Given the description of an element on the screen output the (x, y) to click on. 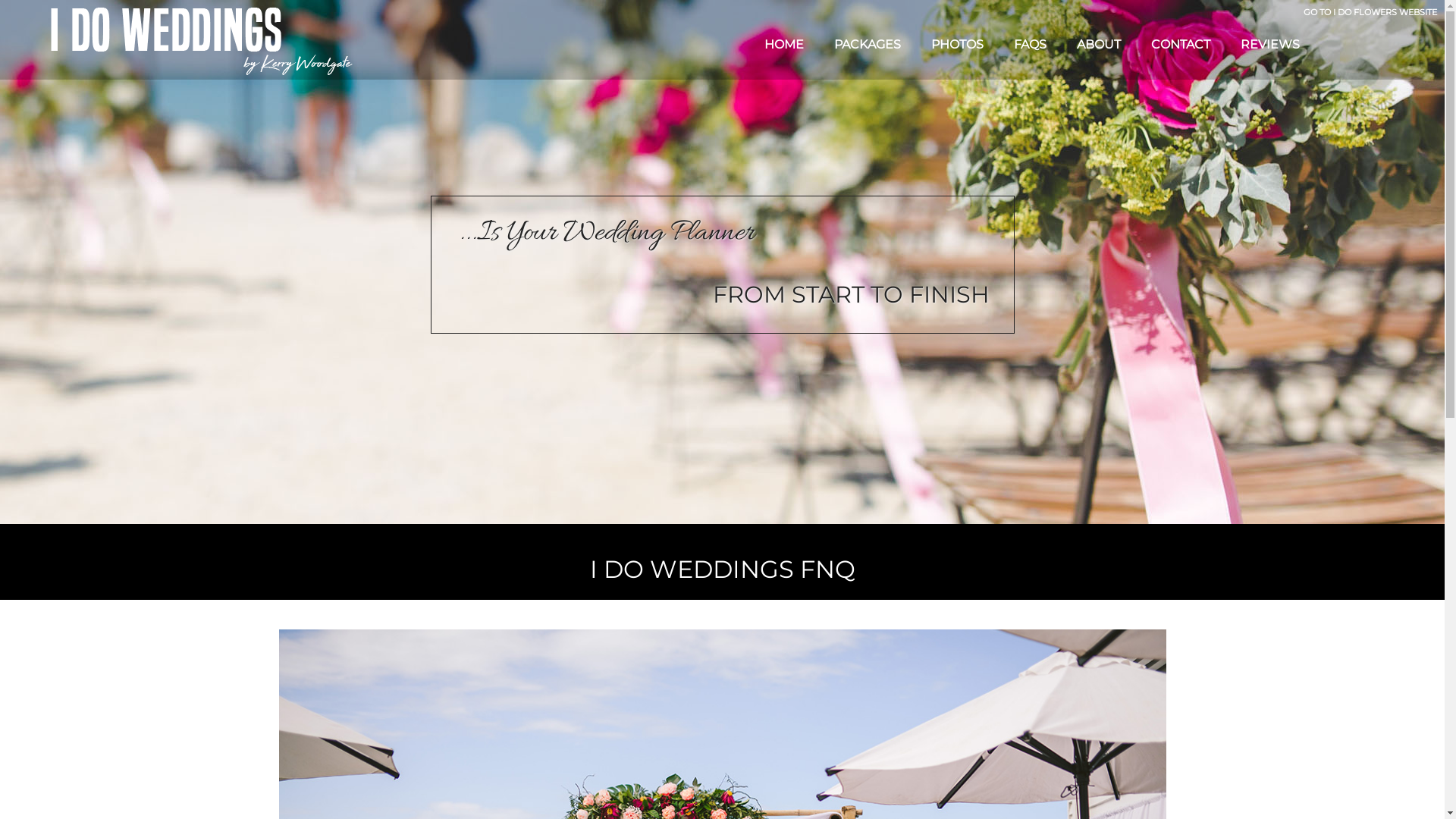
HOME Element type: text (784, 44)
GO TO I DO FLOWERS WEBSITE Element type: text (1370, 11)
CONTACT Element type: text (1180, 44)
FAQS Element type: text (1029, 44)
PHOTOS Element type: text (957, 44)
PACKAGES Element type: text (867, 44)
REVIEWS Element type: text (1269, 44)
ABOUT Element type: text (1098, 44)
